Given the description of an element on the screen output the (x, y) to click on. 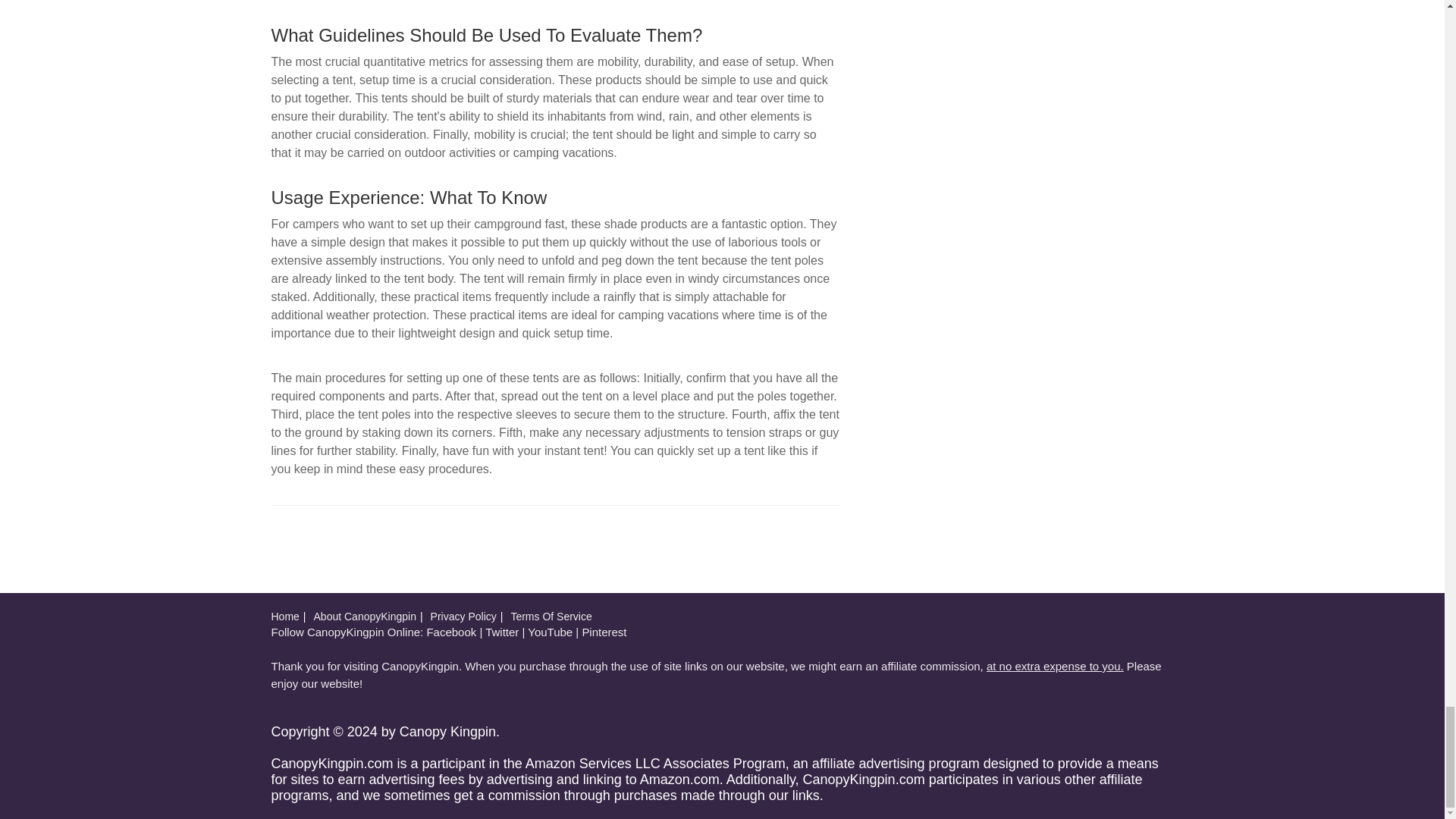
About CanopyKingpin (365, 616)
Facebook (451, 631)
YouTube (549, 631)
Terms Of Service (551, 616)
Privacy Policy (463, 616)
Twitter (501, 631)
Pinterest (603, 631)
Home (284, 616)
